Given the description of an element on the screen output the (x, y) to click on. 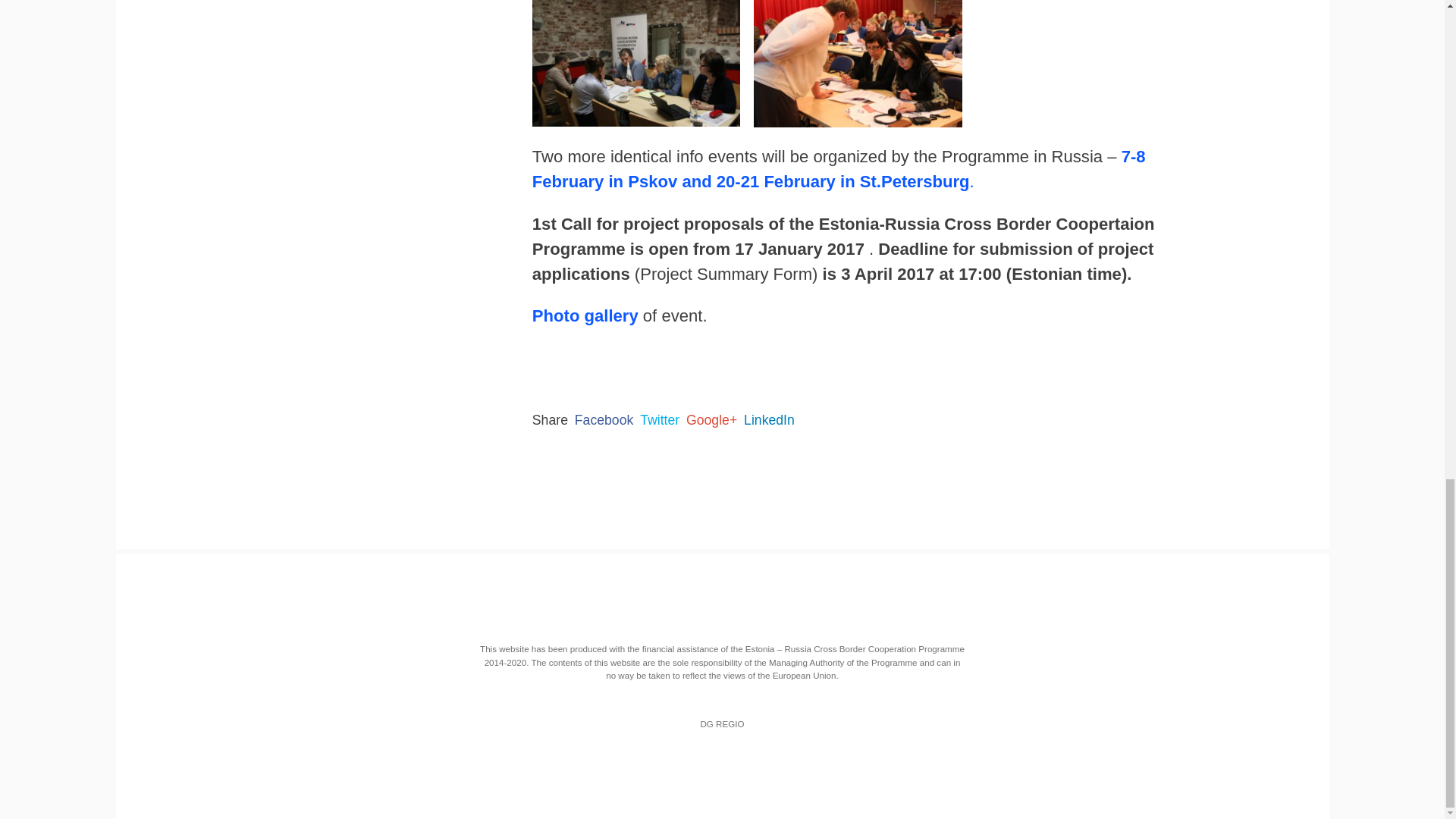
LinkedIn (769, 420)
Photo gallery (585, 315)
7-8 February in Pskov and 20-21 February in St.Petersburg. (838, 168)
DG REGIO (722, 723)
Facebook (604, 420)
Twitter (659, 420)
